Given the description of an element on the screen output the (x, y) to click on. 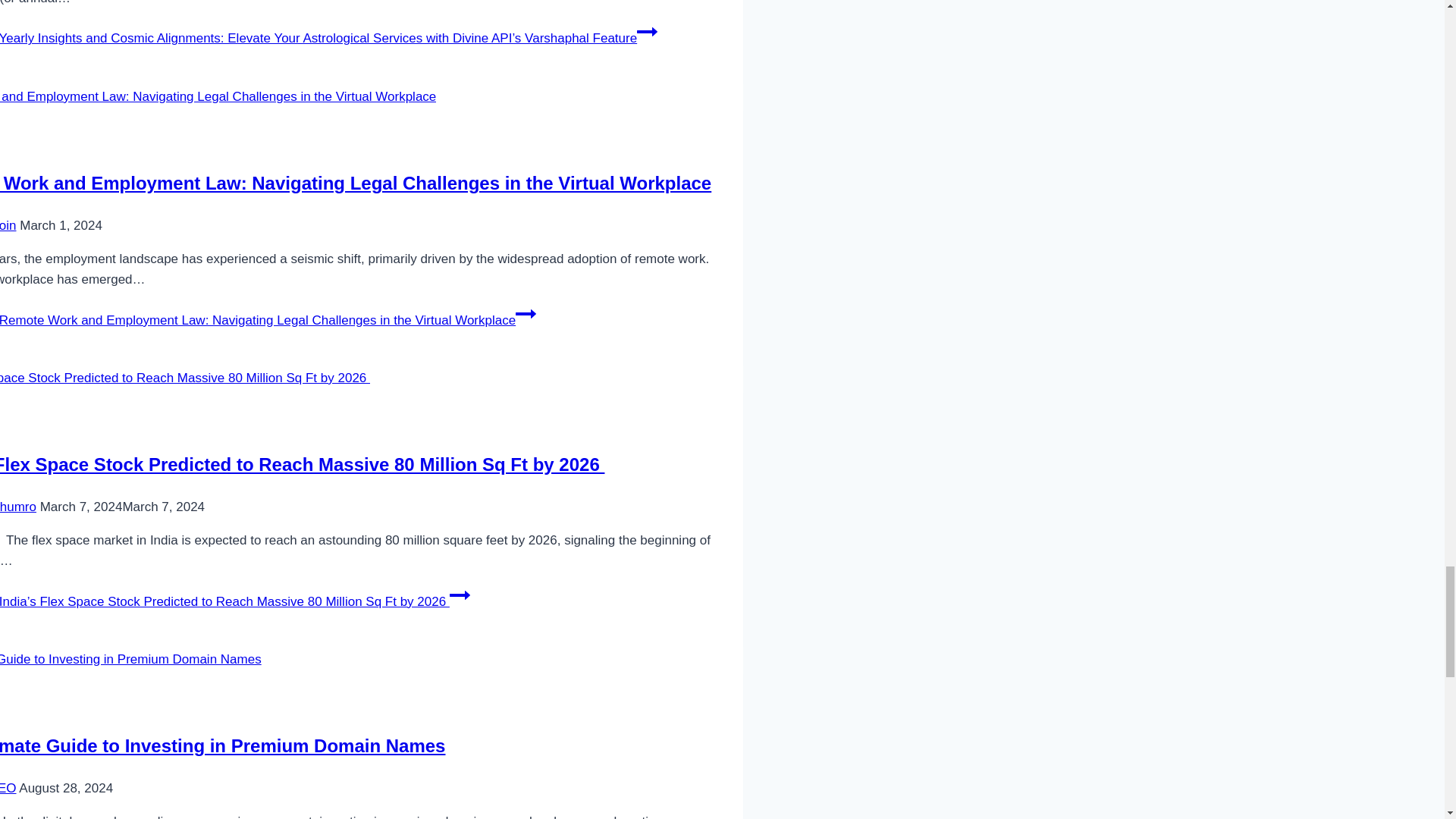
Continue (525, 313)
Continue (647, 31)
Continue (459, 595)
Gulam Moin (8, 225)
